Given the description of an element on the screen output the (x, y) to click on. 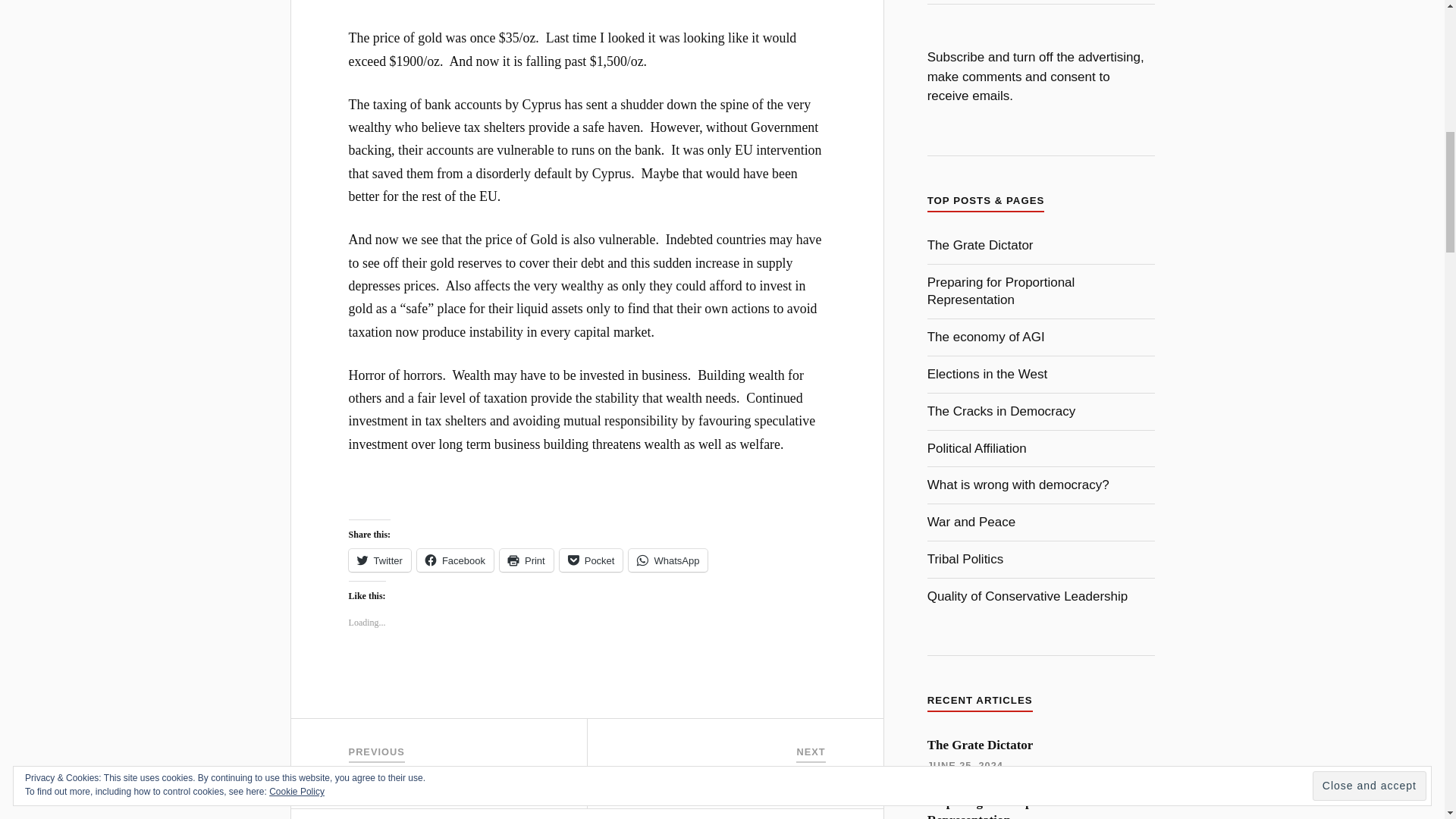
WhatsApp (667, 559)
Elections in the West (986, 373)
Click to print (526, 559)
Facebook (454, 559)
Click to share on WhatsApp (667, 559)
The Cracks in Democracy (1001, 411)
Pocket (591, 559)
Click to share on Twitter (379, 559)
Twitter (705, 763)
The economy of AGI (379, 559)
The Grate Dictator (986, 336)
Click to share on Pocket (980, 245)
Click to share on Facebook (591, 559)
